Given the description of an element on the screen output the (x, y) to click on. 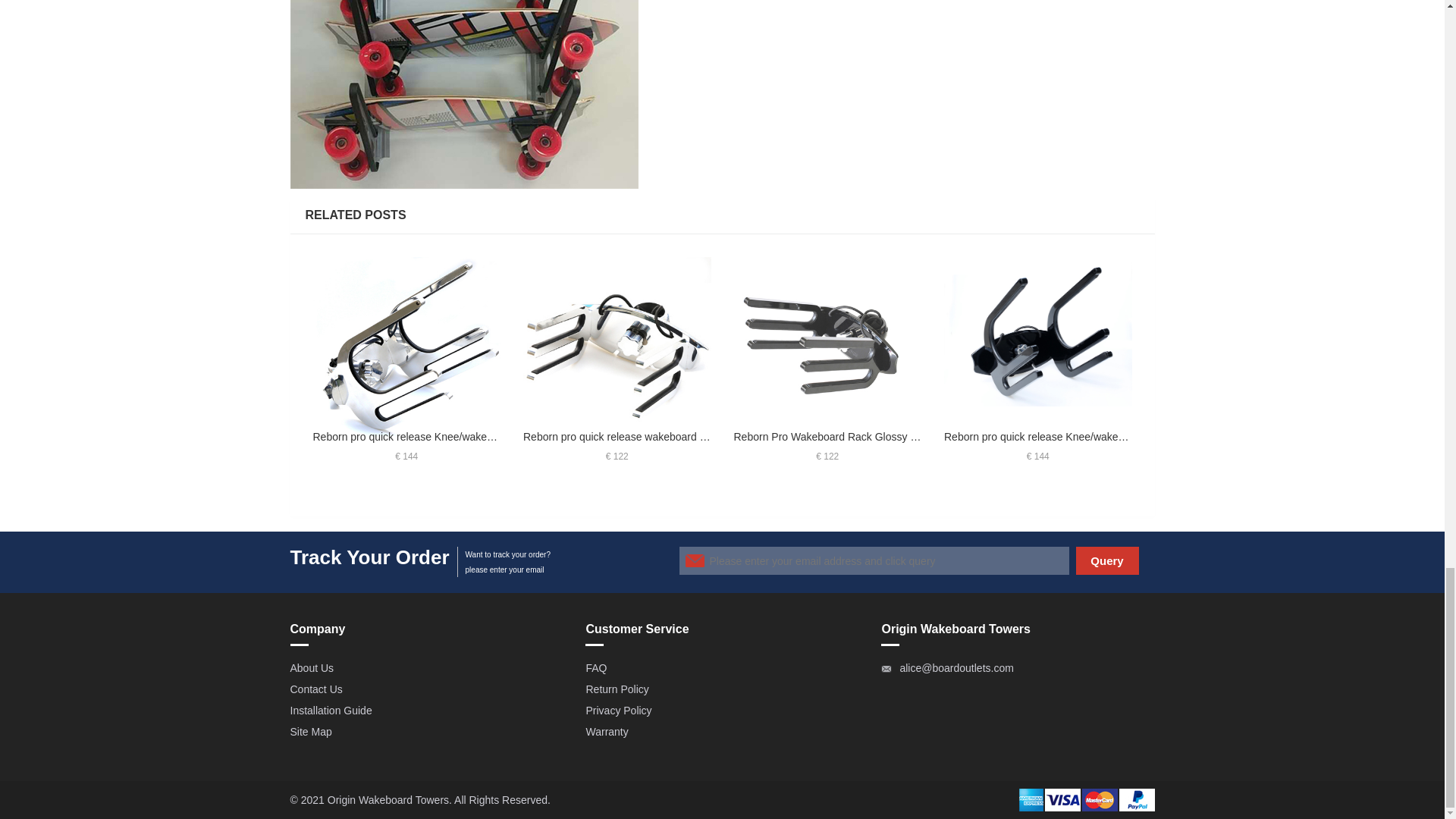
Contact Us (315, 689)
Wakeboard Towers (403, 799)
Installation Guide (330, 710)
Privacy Policy (617, 710)
Query (1106, 560)
About Us (311, 667)
FAQ (596, 667)
Return Policy (616, 689)
Warranty (606, 731)
Site Map (310, 731)
